Given the description of an element on the screen output the (x, y) to click on. 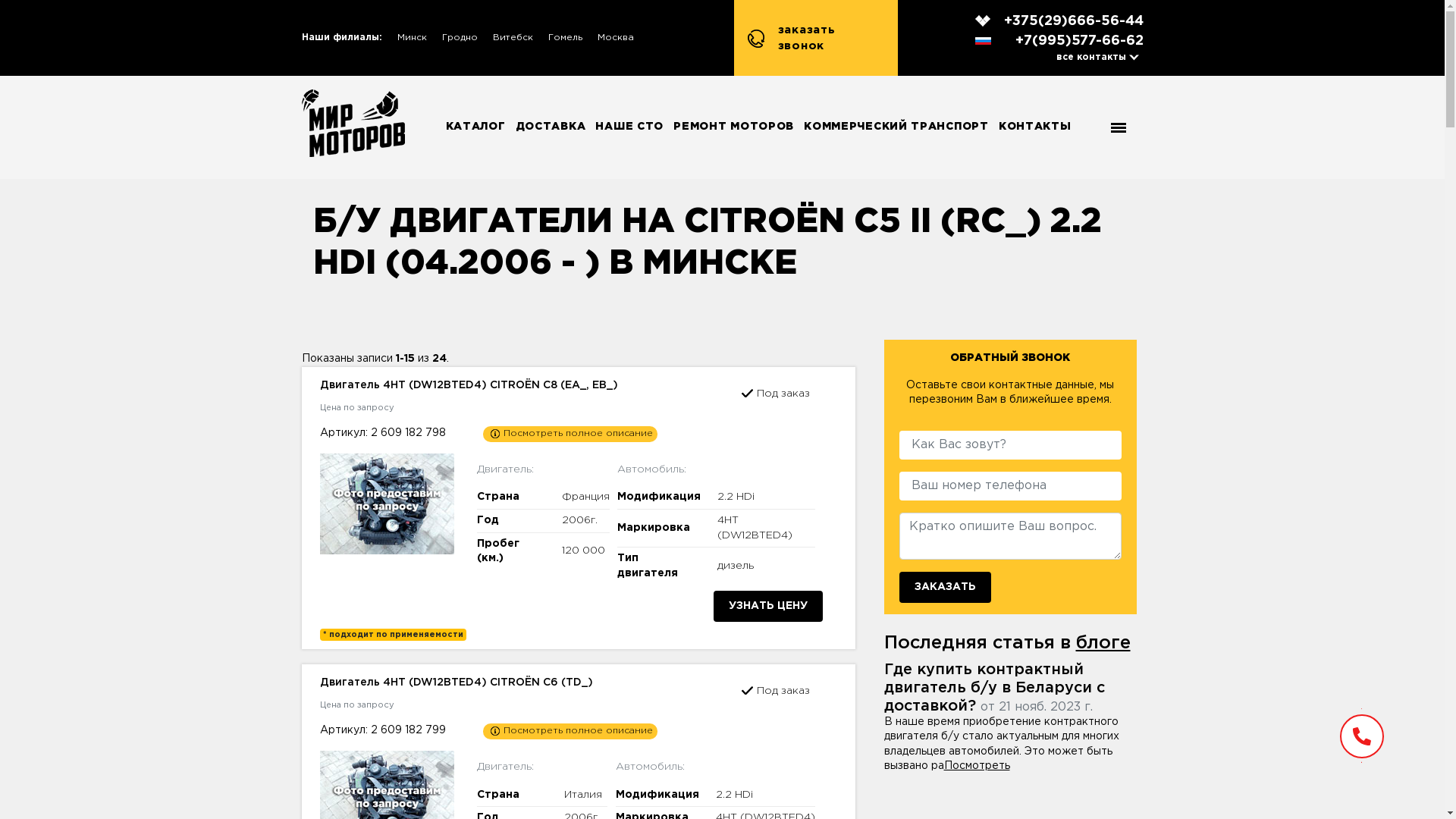
+375(29)666-56-44 Element type: text (1059, 21)
2.2 HDi Element type: text (735, 496)
2.2 HDi Element type: text (734, 794)
+7(995)577-66-62 Element type: text (1059, 40)
4HT (DW12BTED4) Element type: text (754, 527)
